Given the description of an element on the screen output the (x, y) to click on. 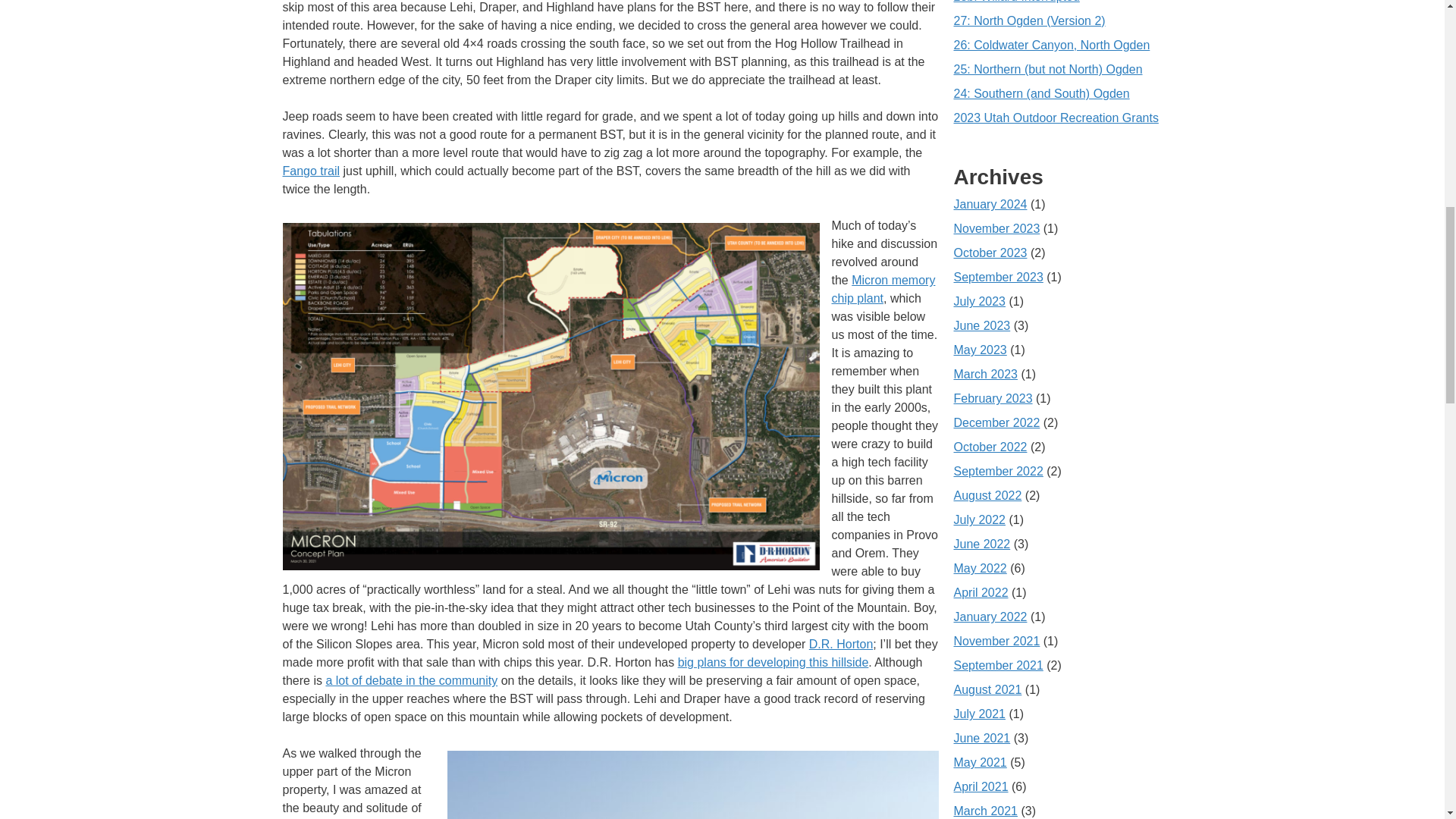
big plans for developing this hillside (773, 662)
a lot of debate in the community (410, 680)
D.R. Horton (840, 644)
Micron memory chip plant (882, 288)
Fango trail (310, 170)
